Given the description of an element on the screen output the (x, y) to click on. 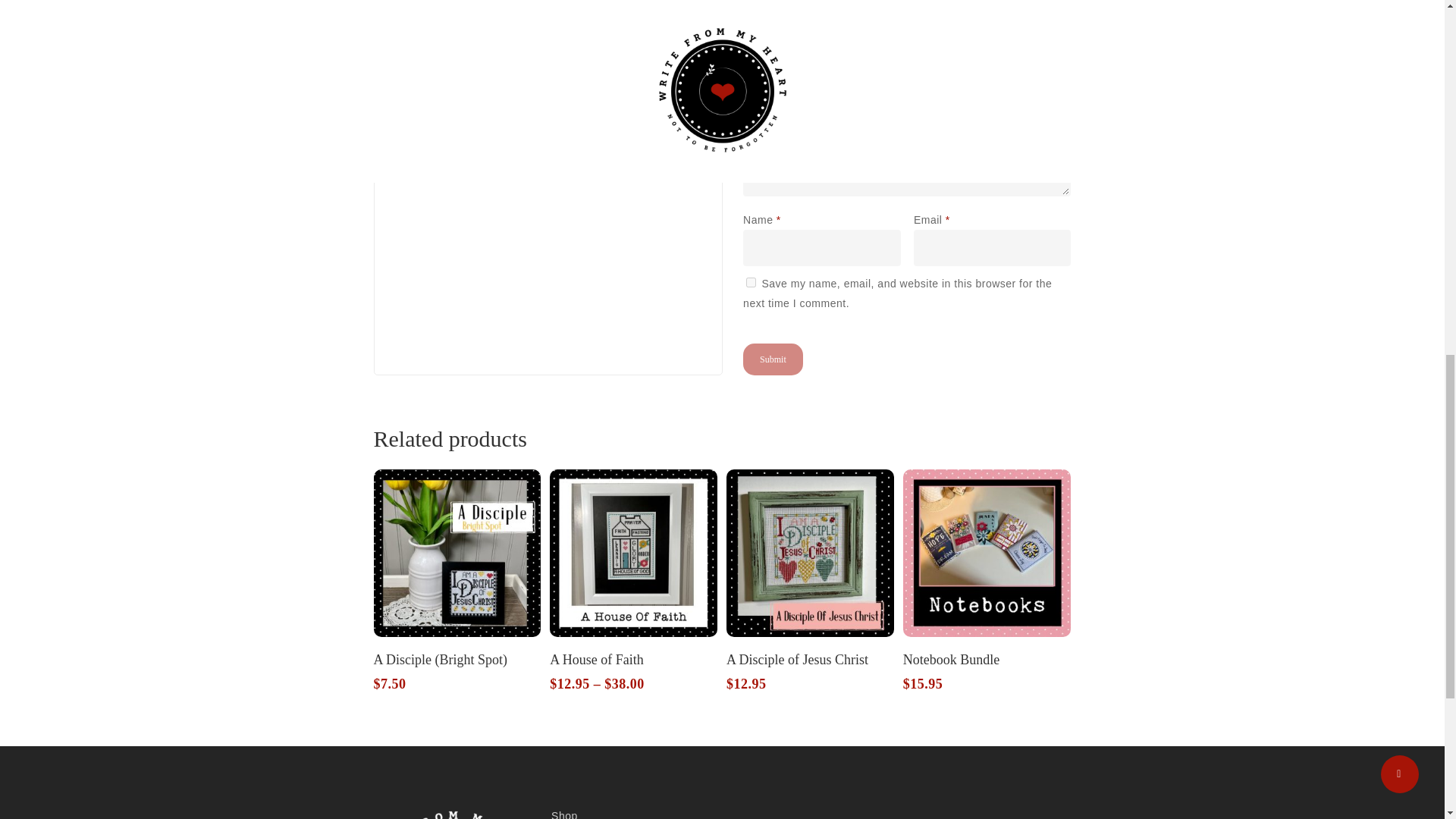
Submit (772, 359)
Shop (632, 812)
Submit (772, 359)
yes (750, 282)
